Given the description of an element on the screen output the (x, y) to click on. 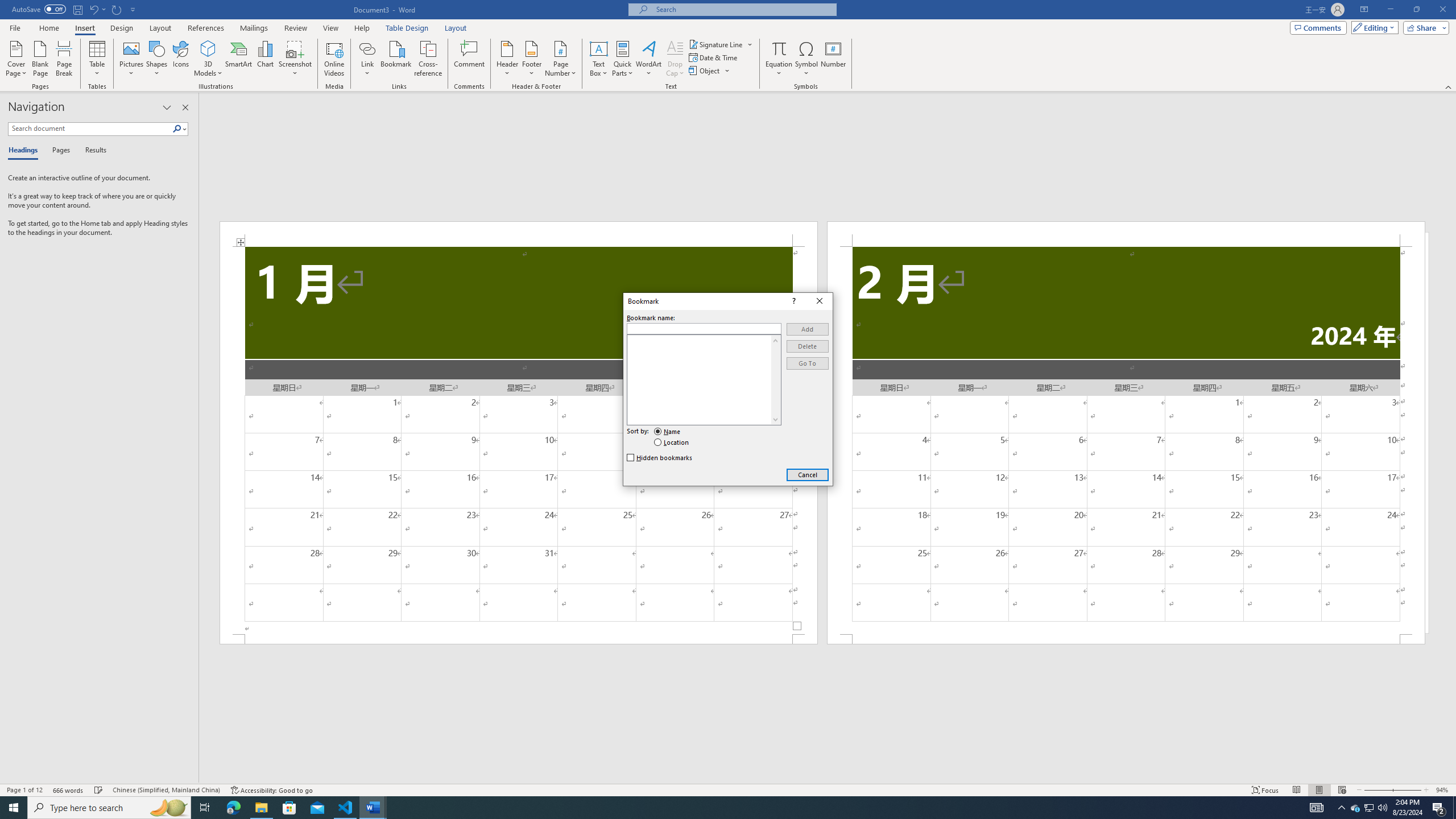
Location (671, 442)
File Explorer - 1 running window (261, 807)
Signature Line (716, 44)
Icons (180, 58)
Screenshot (295, 58)
Page Break (63, 58)
Repeat Doc Close (117, 9)
Equation (778, 58)
Pages (59, 150)
Chart... (265, 58)
Symbol (806, 58)
References (205, 28)
Footer (531, 58)
Footer -Section 2- (1126, 638)
